Given the description of an element on the screen output the (x, y) to click on. 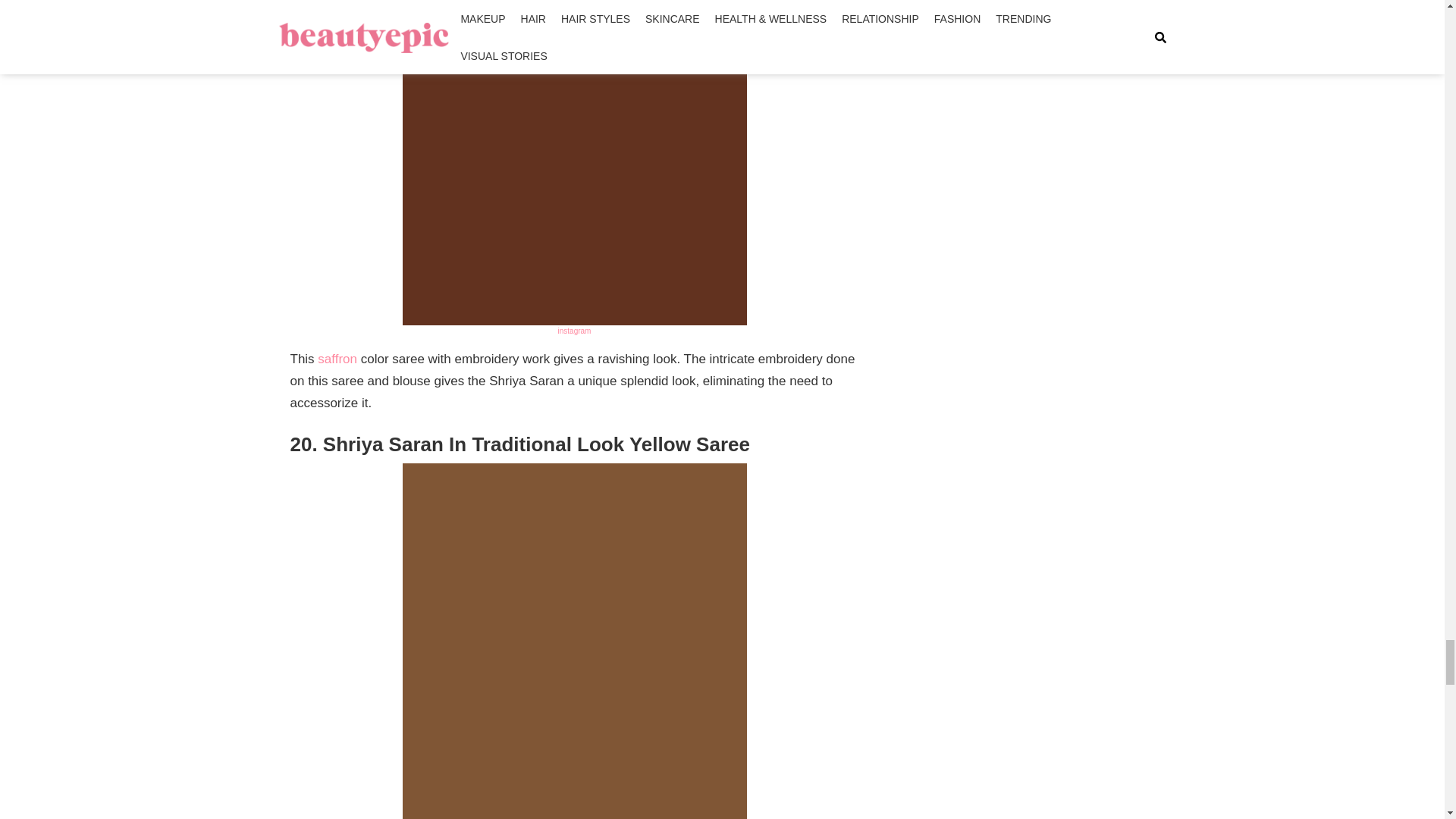
saffron (336, 359)
